Given the description of an element on the screen output the (x, y) to click on. 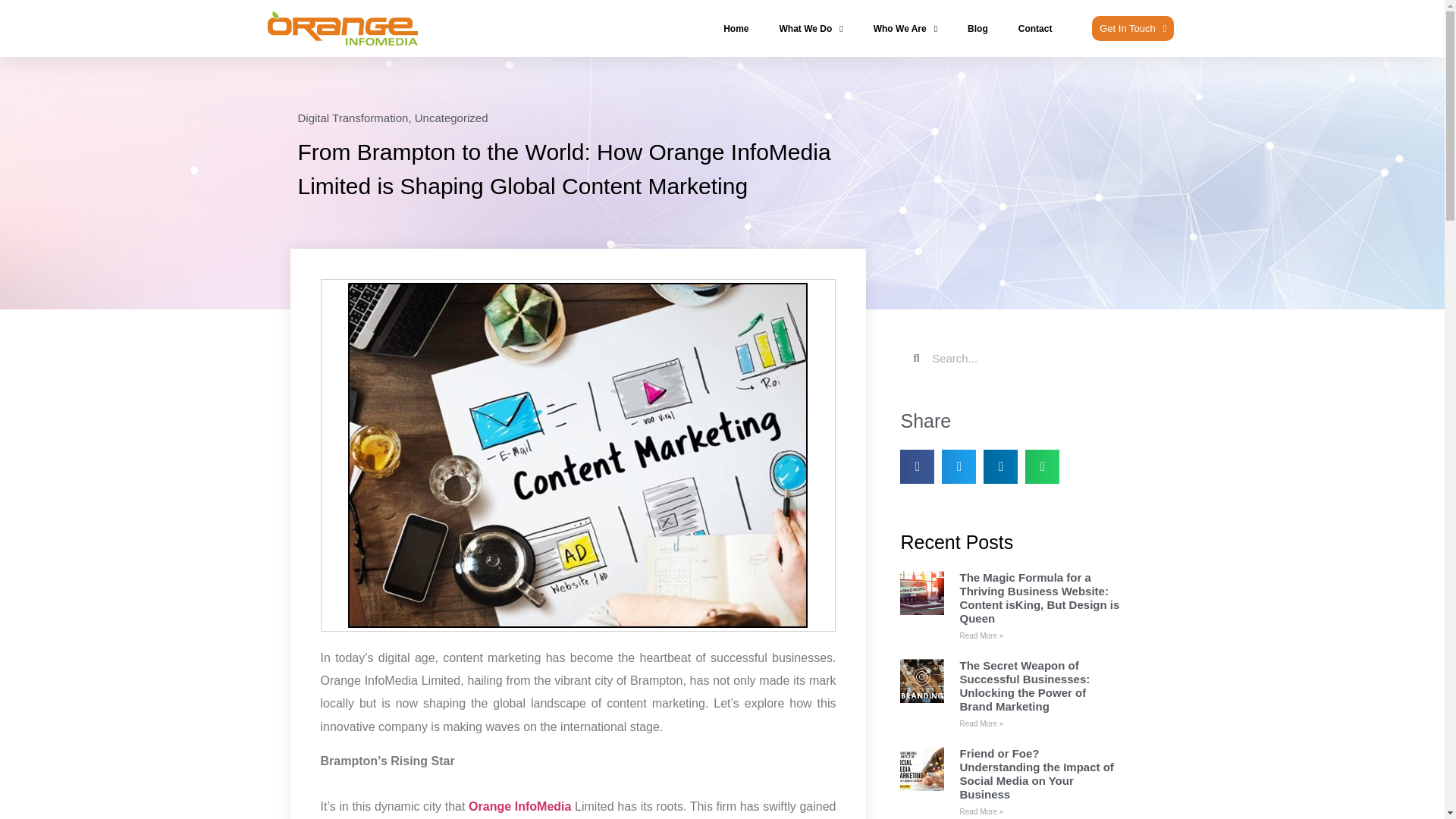
Get In Touch (1132, 27)
Contact (1034, 28)
What We Do (810, 28)
Who We Are (905, 28)
